Given the description of an element on the screen output the (x, y) to click on. 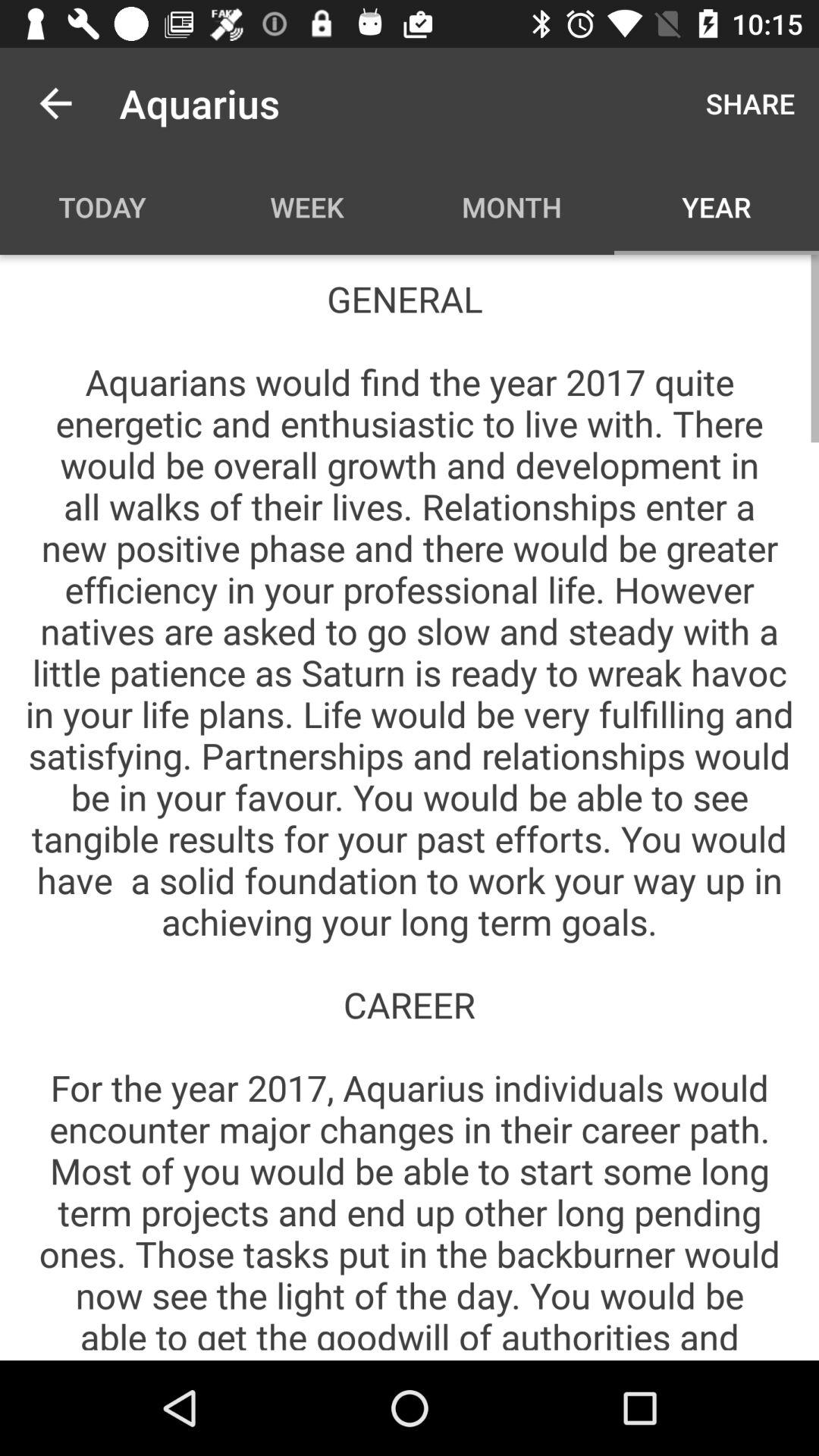
click item above today item (55, 103)
